Given the description of an element on the screen output the (x, y) to click on. 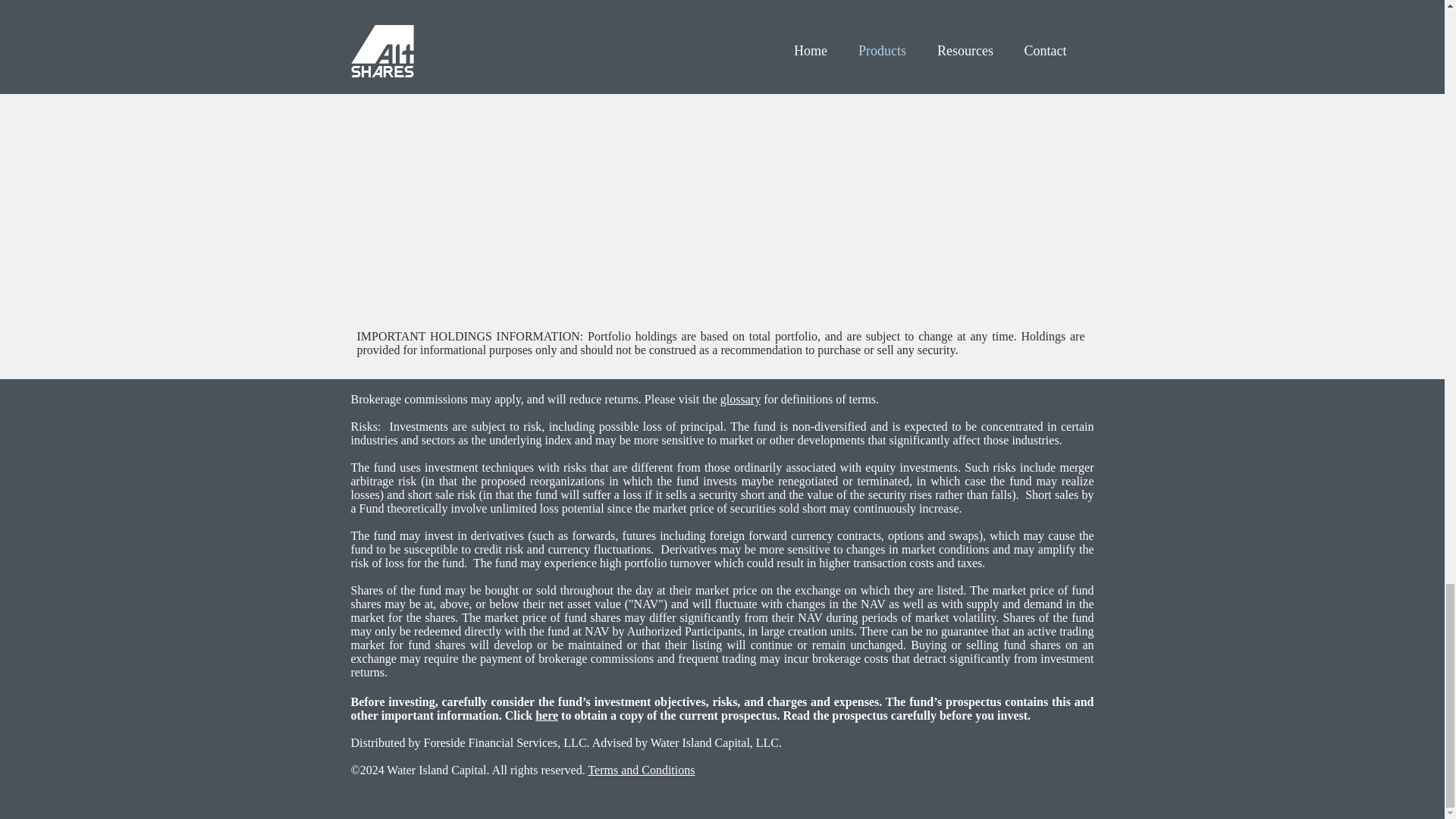
Terms and Conditions (641, 769)
here (546, 715)
glossary (740, 399)
